Given the description of an element on the screen output the (x, y) to click on. 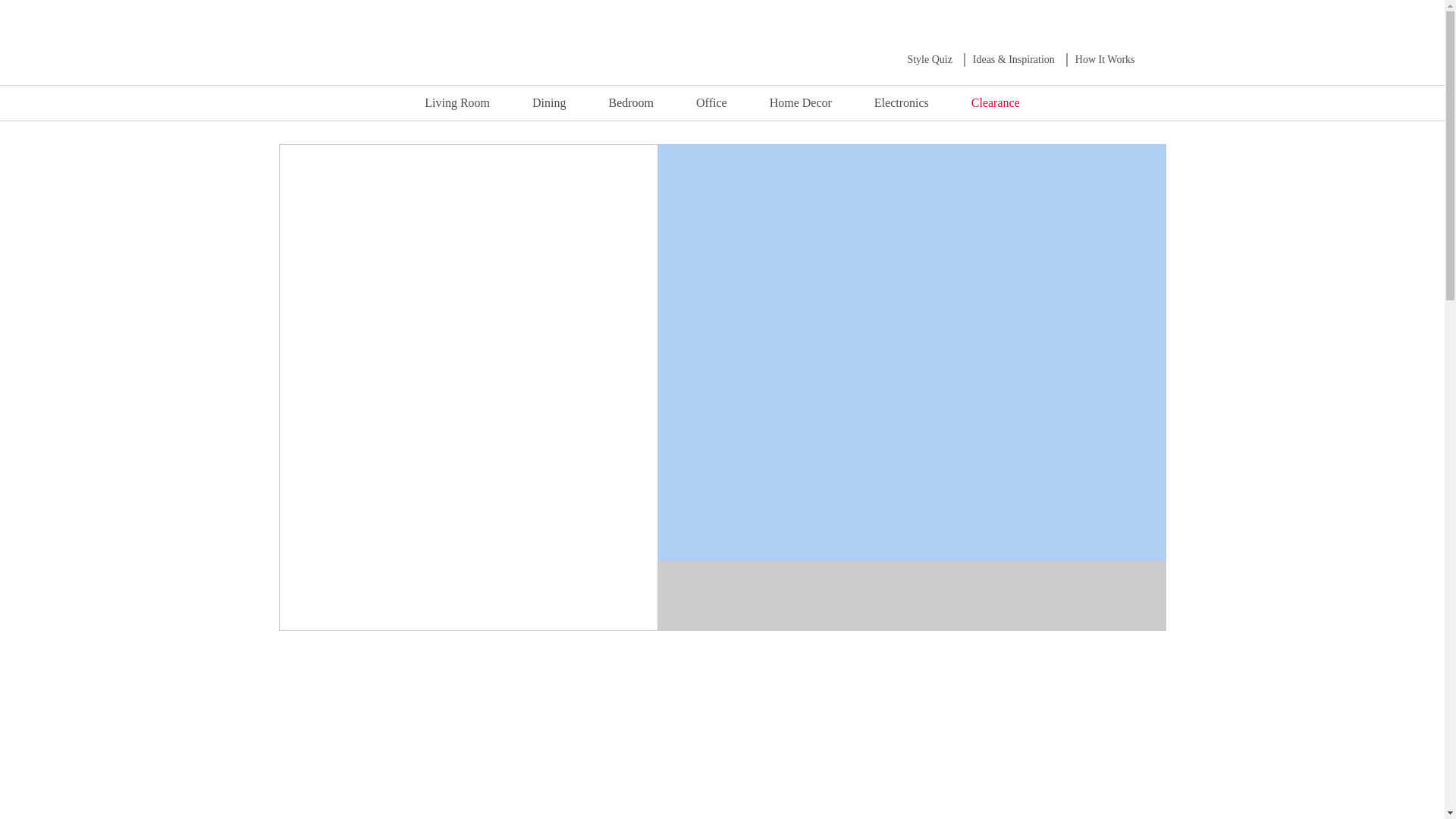
Clearance (995, 102)
How It Works (1106, 59)
Living Room (457, 102)
Office (711, 102)
Bedroom (630, 102)
Electronics (901, 102)
Home Decor (800, 102)
Dining (548, 102)
Style Quiz (929, 59)
